Given the description of an element on the screen output the (x, y) to click on. 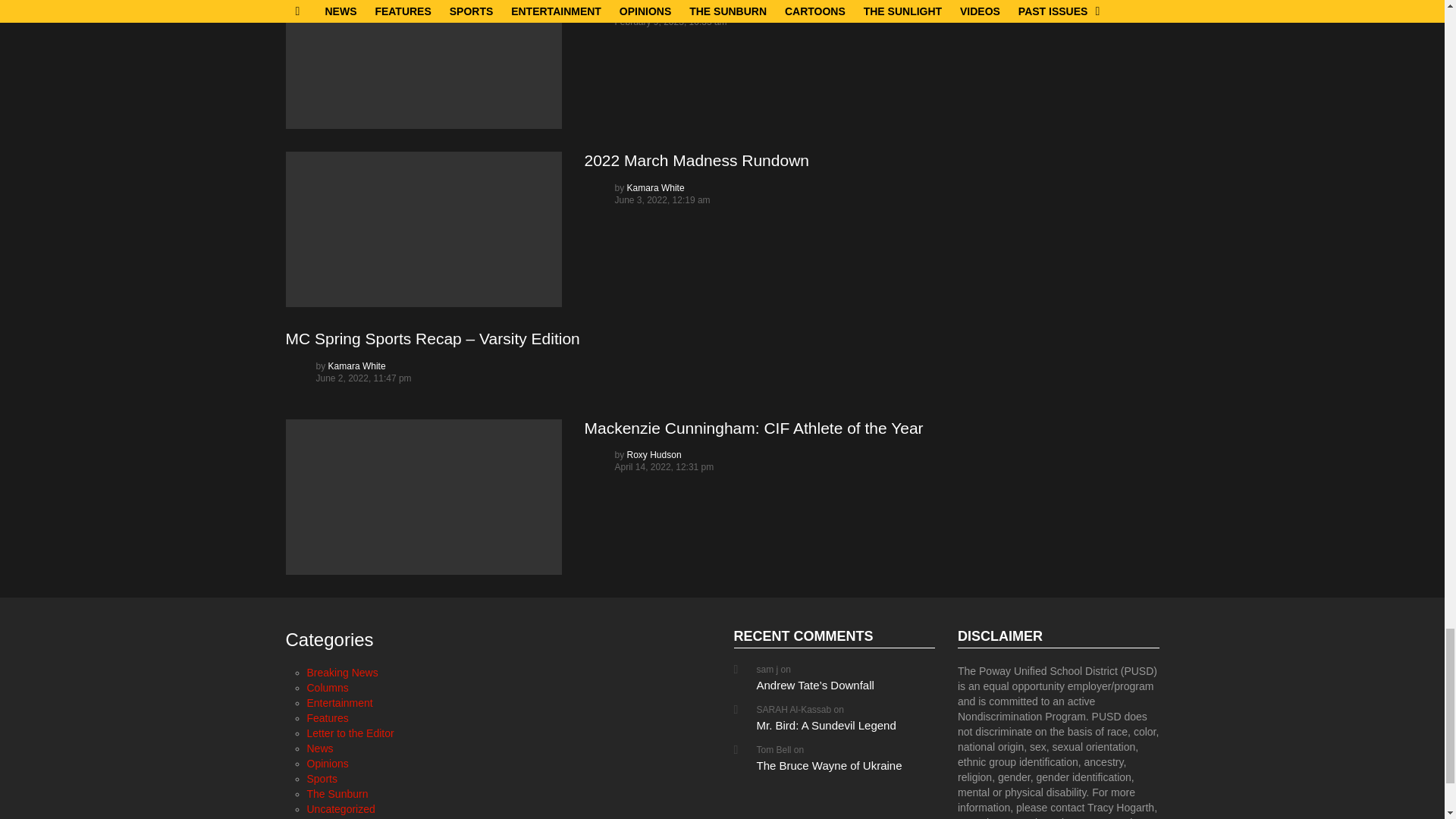
Sabrina Oakley Scores 1000th Point (422, 64)
